Given the description of an element on the screen output the (x, y) to click on. 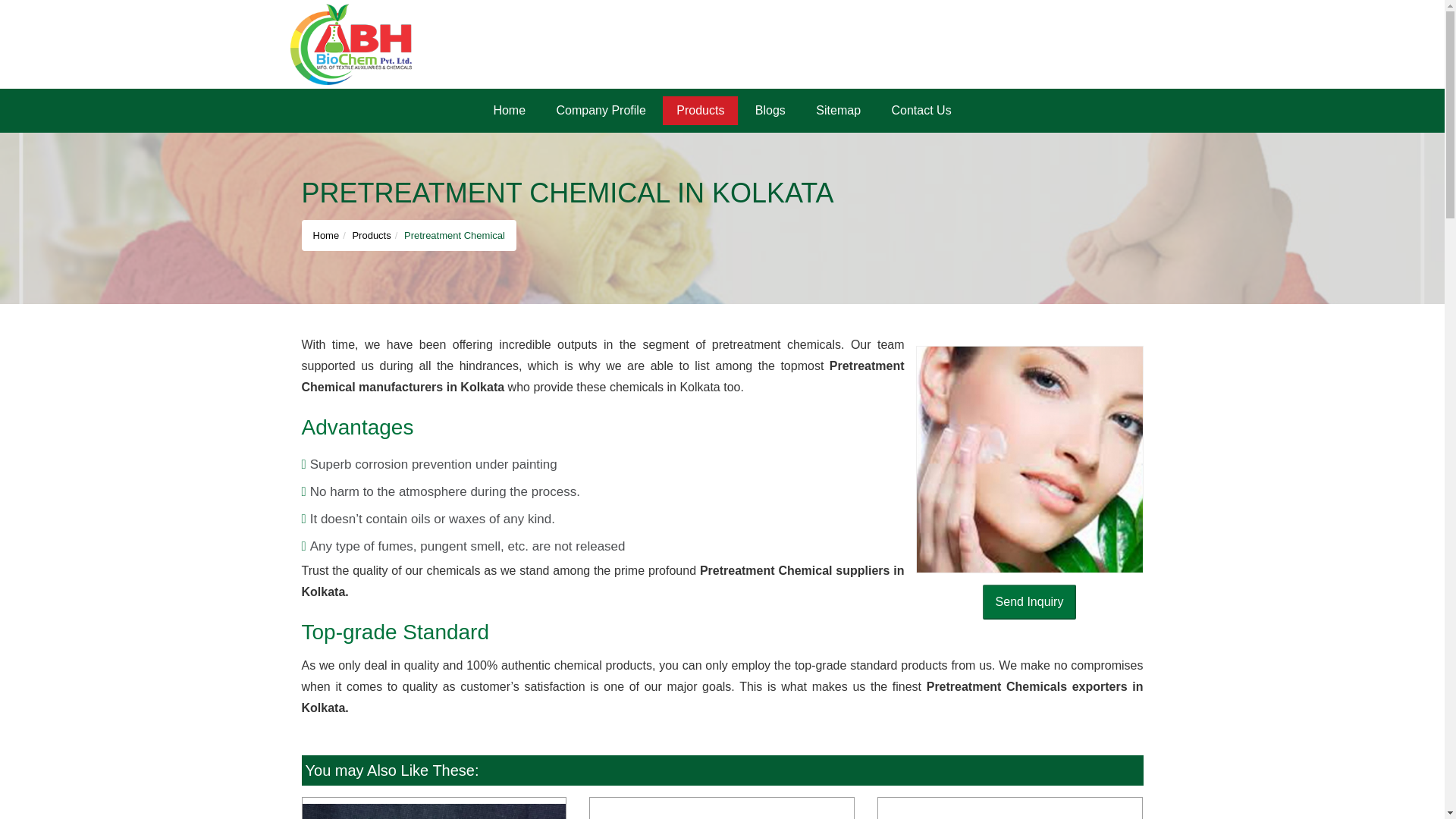
Home (326, 235)
Contact Us (920, 110)
Sitemap (838, 110)
Company Profile (601, 110)
Home (508, 110)
Products (371, 235)
Home (508, 110)
Blogs (770, 110)
Products (700, 110)
Products (700, 110)
